Given the description of an element on the screen output the (x, y) to click on. 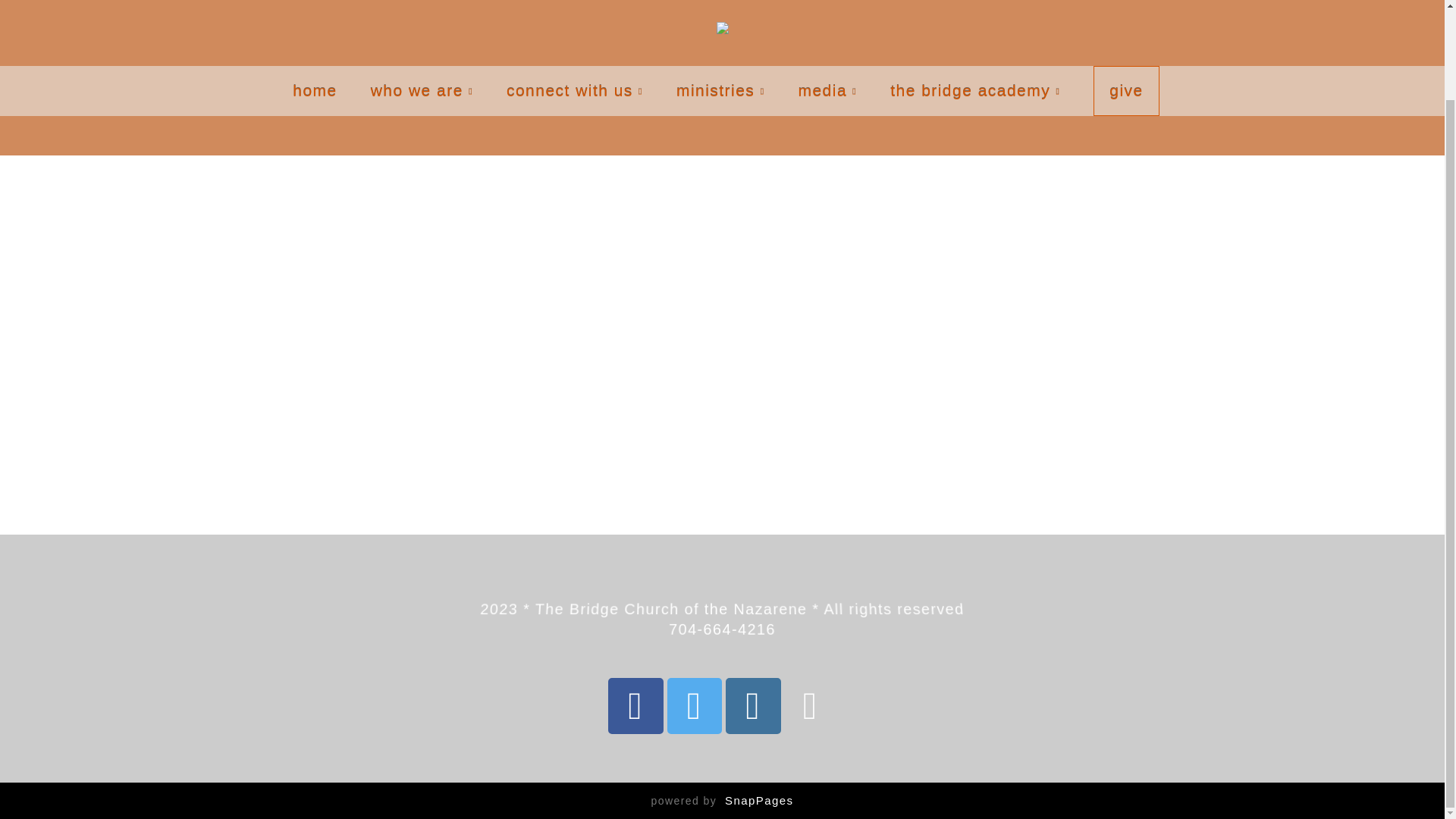
the bridge academy  (975, 90)
powered by SnapPages Website Builder (721, 800)
give (1125, 91)
who we are  (421, 90)
powered by  SnapPages (721, 800)
home (315, 90)
media  (827, 90)
connect with us  (575, 90)
ministries  (720, 90)
